Given the description of an element on the screen output the (x, y) to click on. 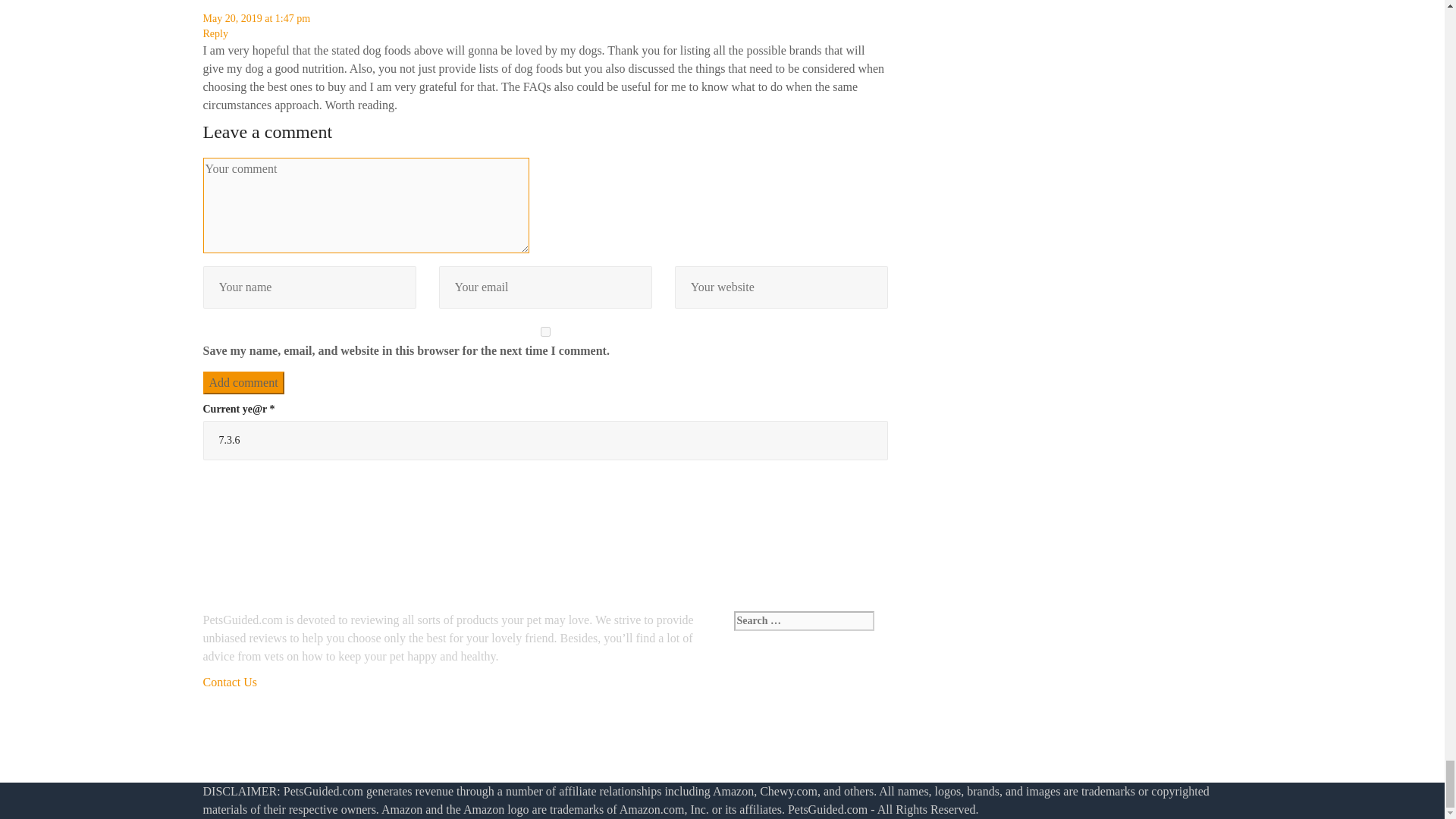
7.3.6 (545, 440)
yes (545, 331)
